Given the description of an element on the screen output the (x, y) to click on. 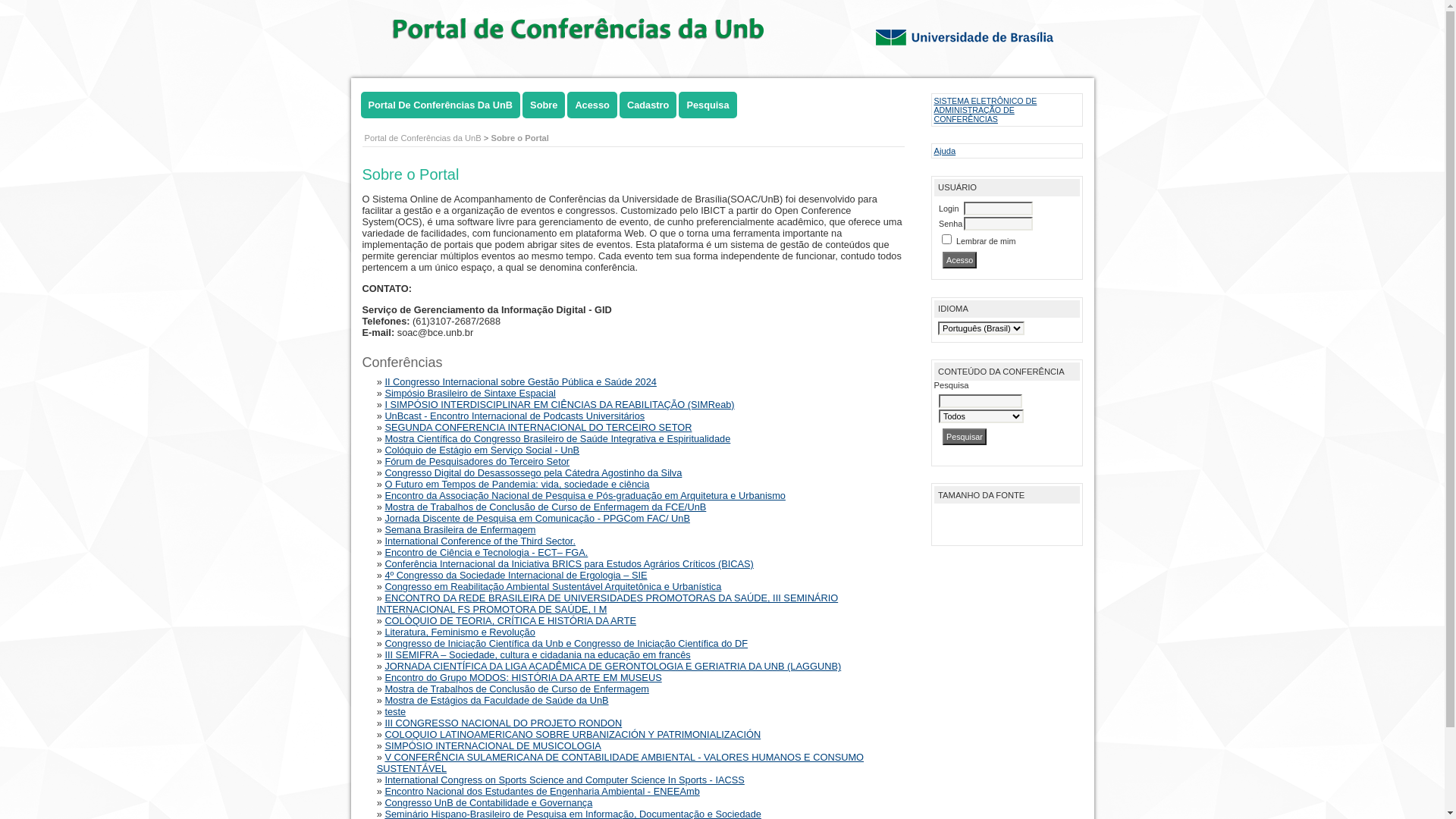
III CONGRESSO NACIONAL DO PROJETO RONDON Element type: text (502, 722)
Pesquisa Element type: text (707, 104)
Acesso Element type: text (959, 259)
Semana Brasileira de Enfermagem Element type: text (459, 529)
International Conference of the Third Sector. Element type: text (479, 540)
Sobre o Portal Element type: text (519, 137)
Sobre Element type: text (543, 104)
Ajuda Element type: text (945, 150)
SEGUNDA CONFERENCIA INTERNACIONAL DO TERCEIRO SETOR Element type: text (537, 427)
Cadastro Element type: text (647, 104)
Pesquisar Element type: text (964, 436)
teste Element type: text (394, 711)
Acesso Element type: text (592, 104)
